Given the description of an element on the screen output the (x, y) to click on. 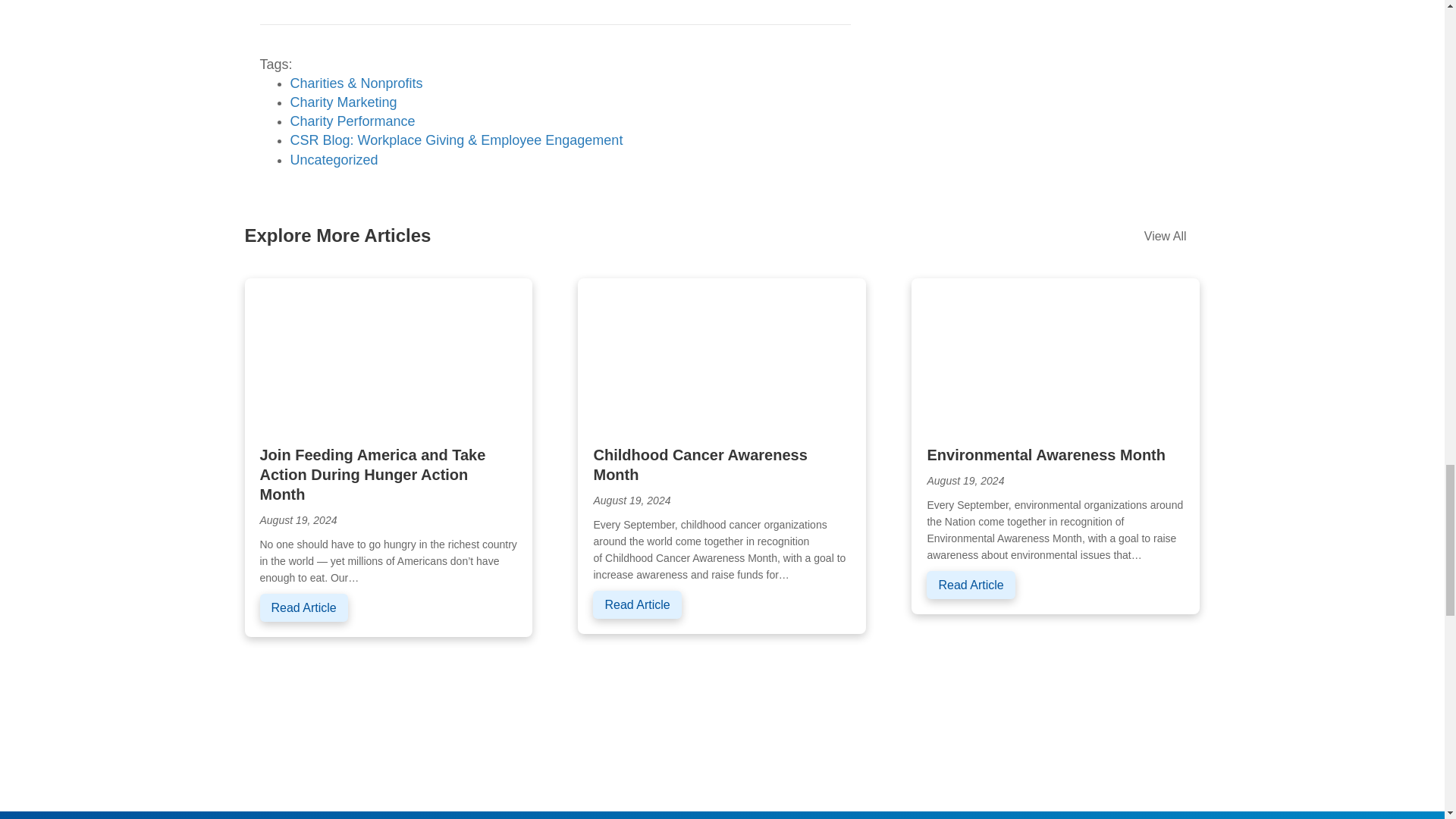
Environmental Awareness Month (970, 584)
Childhood Cancer Awareness Month (699, 464)
Childhood Cancer Awareness Month (722, 353)
Environmental Awareness Month (1055, 353)
newsletter-mock (969, 775)
Childhood Cancer Awareness Month (636, 604)
Environmental Awareness Month (1046, 454)
